Given the description of an element on the screen output the (x, y) to click on. 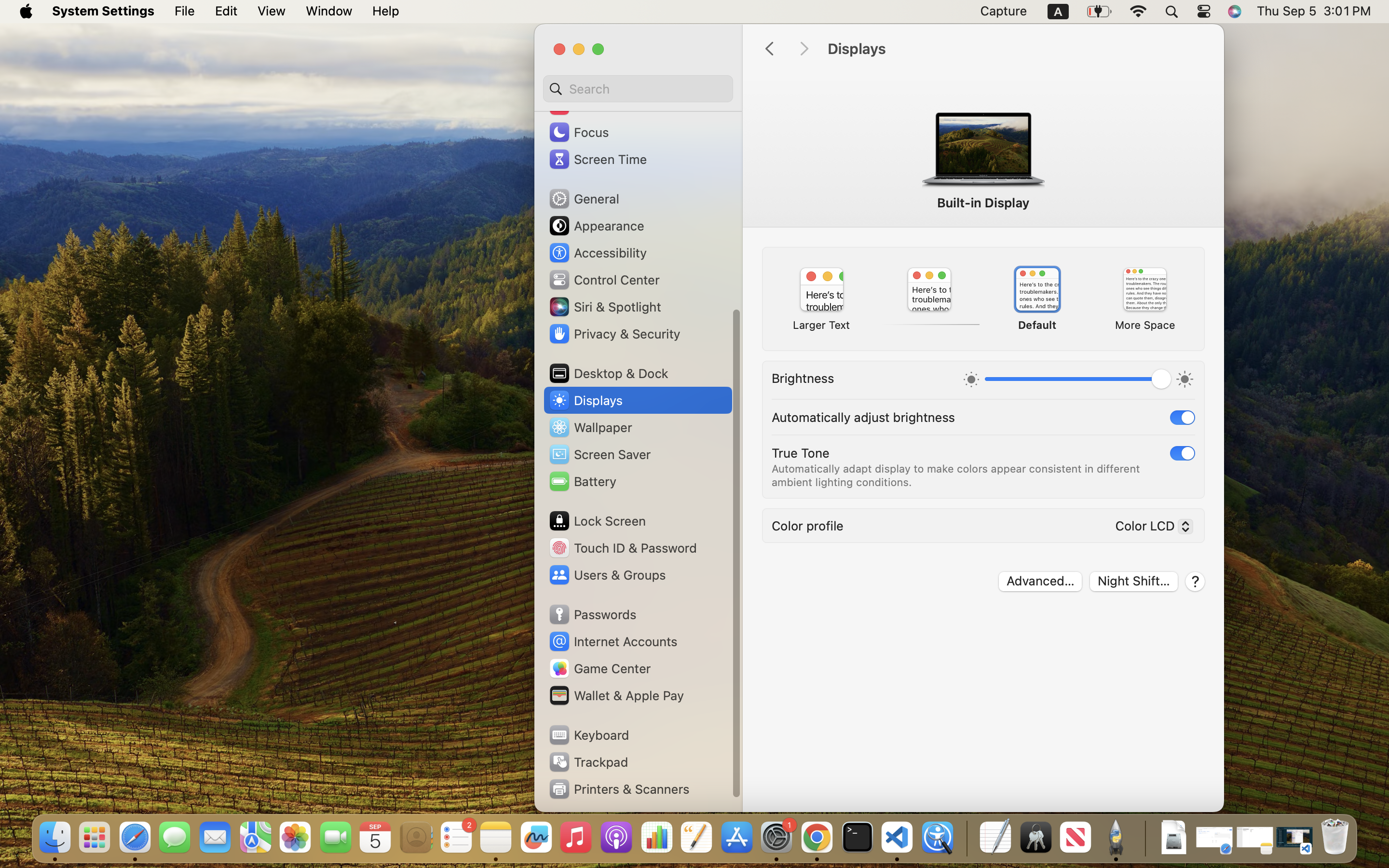
Desktop & Dock Element type: AXStaticText (607, 372)
1.0 Element type: AXSlider (1077, 380)
Sound Element type: AXStaticText (579, 104)
